Given the description of an element on the screen output the (x, y) to click on. 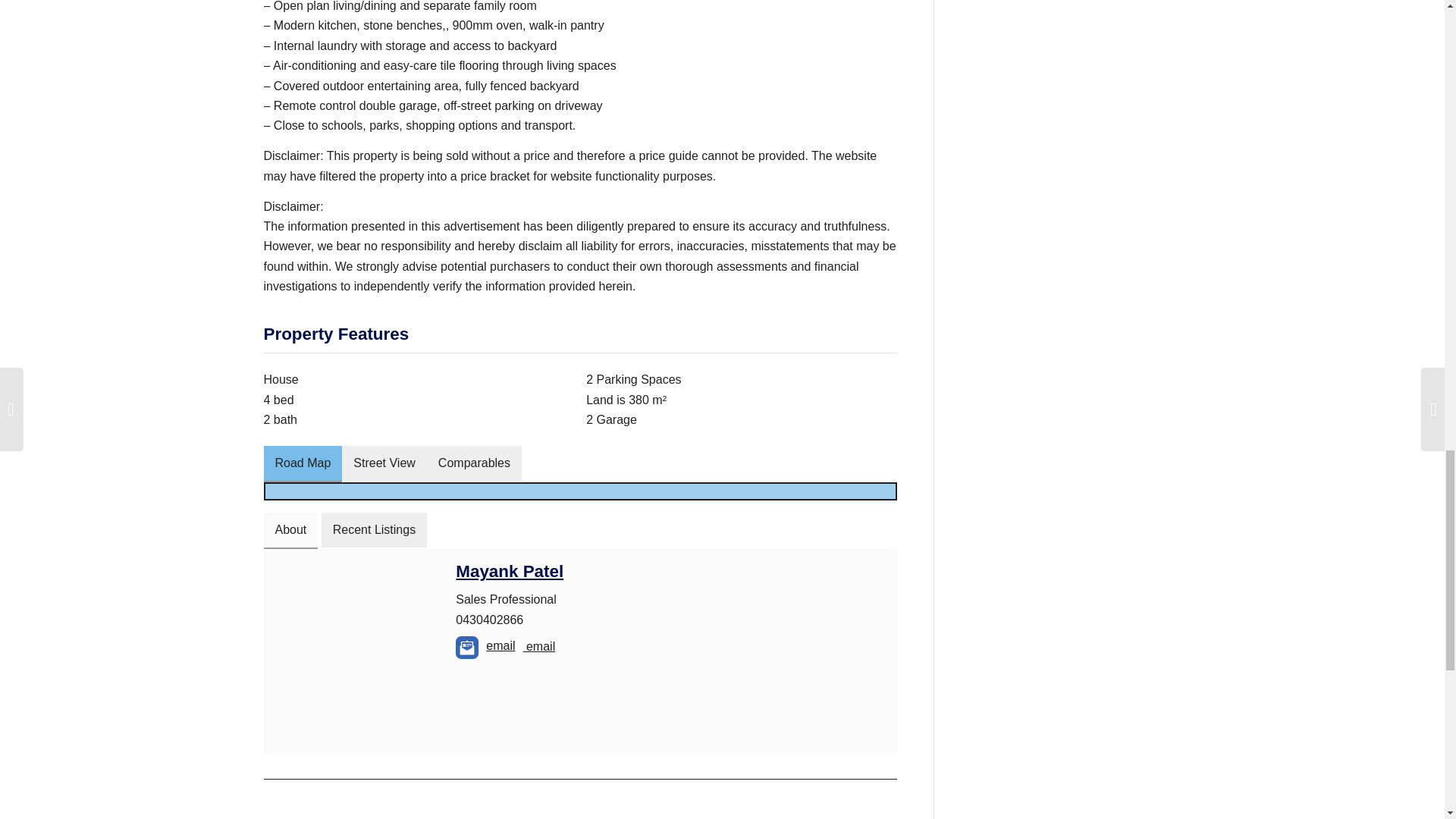
Contact Mayank mayank by Email (467, 647)
Mayank Patel (509, 570)
